Given the description of an element on the screen output the (x, y) to click on. 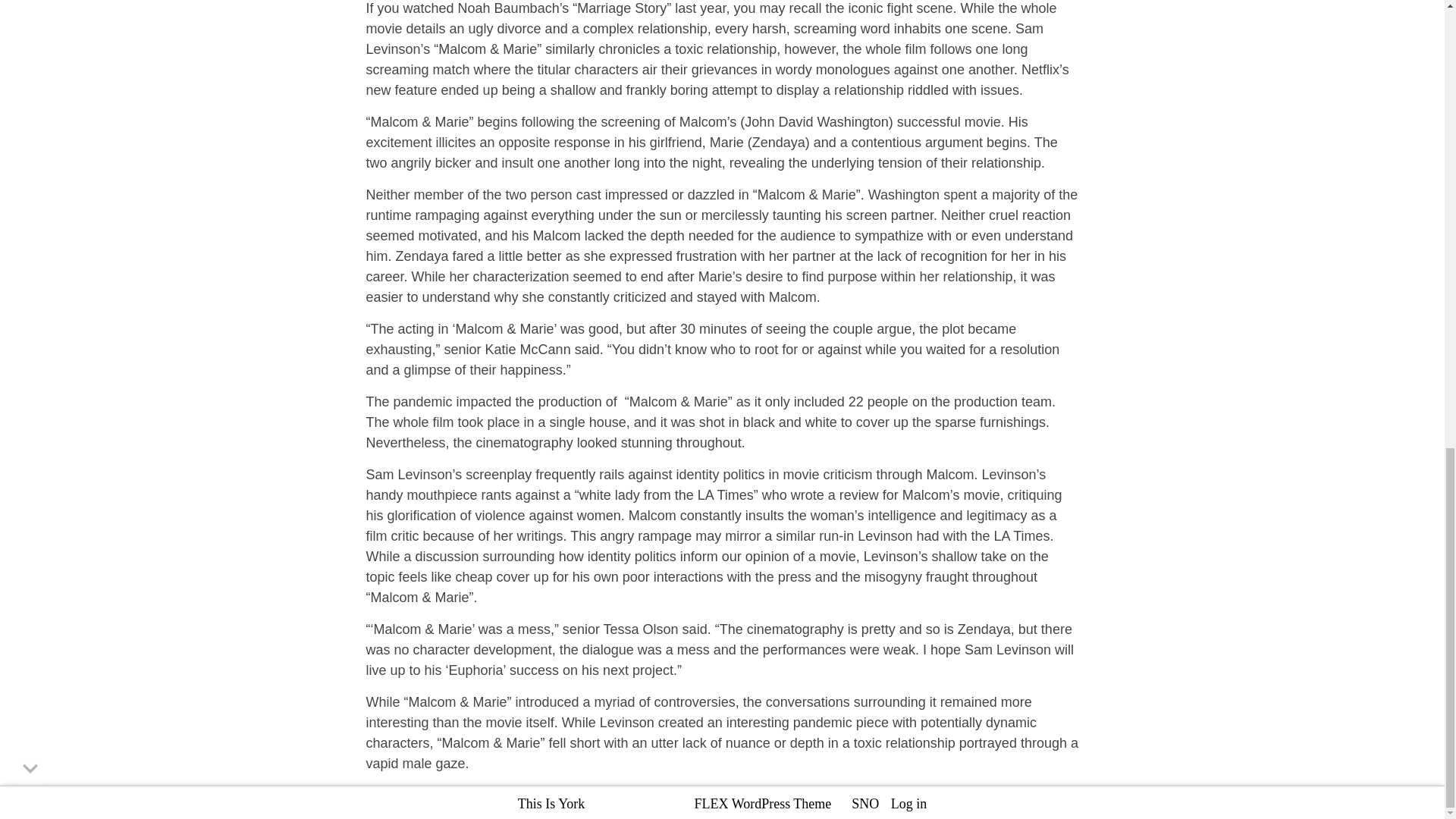
This Is York (551, 803)
FLEX WordPress Theme (762, 803)
Log in (909, 803)
SNO (865, 803)
